Given the description of an element on the screen output the (x, y) to click on. 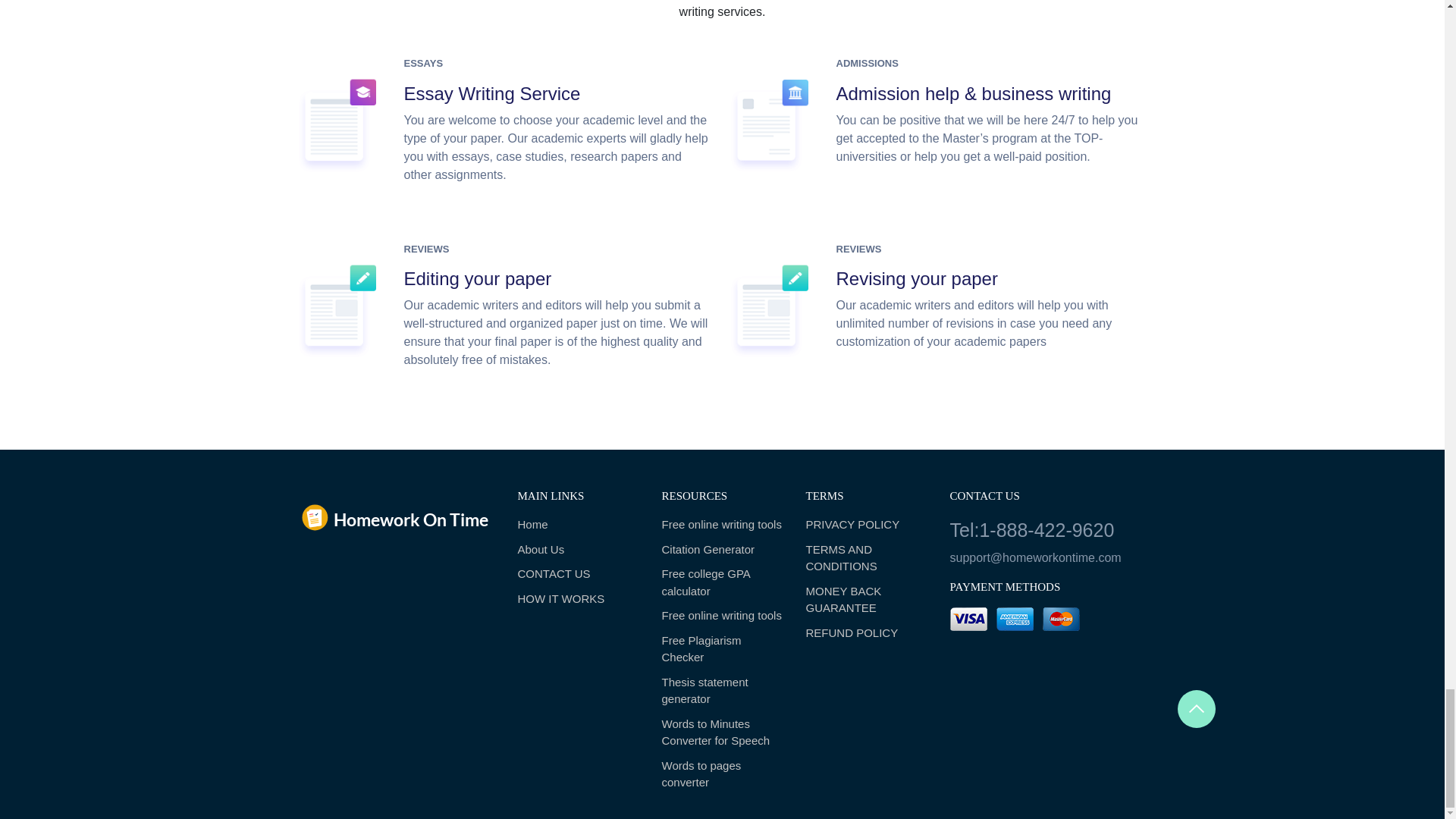
Thesis statement generator (722, 691)
Words to Minutes Converter for Speech (722, 732)
Free college GPA calculator (722, 582)
Free Plagiarism Checker (722, 649)
PRIVACY POLICY (865, 524)
Words to pages converter (722, 774)
Free online writing tools (722, 524)
Home (577, 524)
Citation Generator (722, 549)
MONEY BACK GUARANTEE (865, 600)
